Given the description of an element on the screen output the (x, y) to click on. 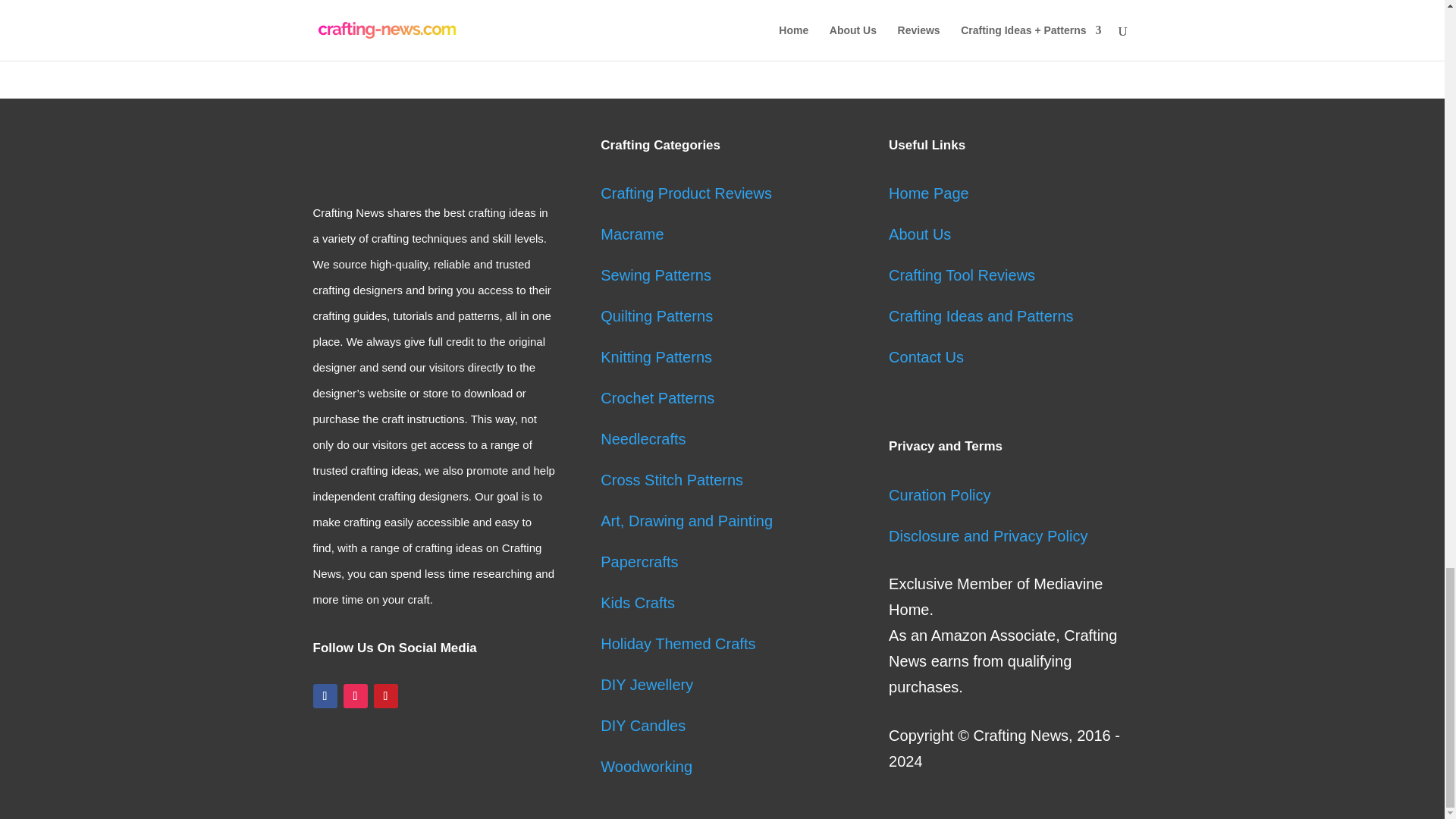
Follow on Pinterest (384, 695)
Crafting News Logo (409, 155)
Follow on Facebook (324, 695)
Follow on Instagram (354, 695)
